Given the description of an element on the screen output the (x, y) to click on. 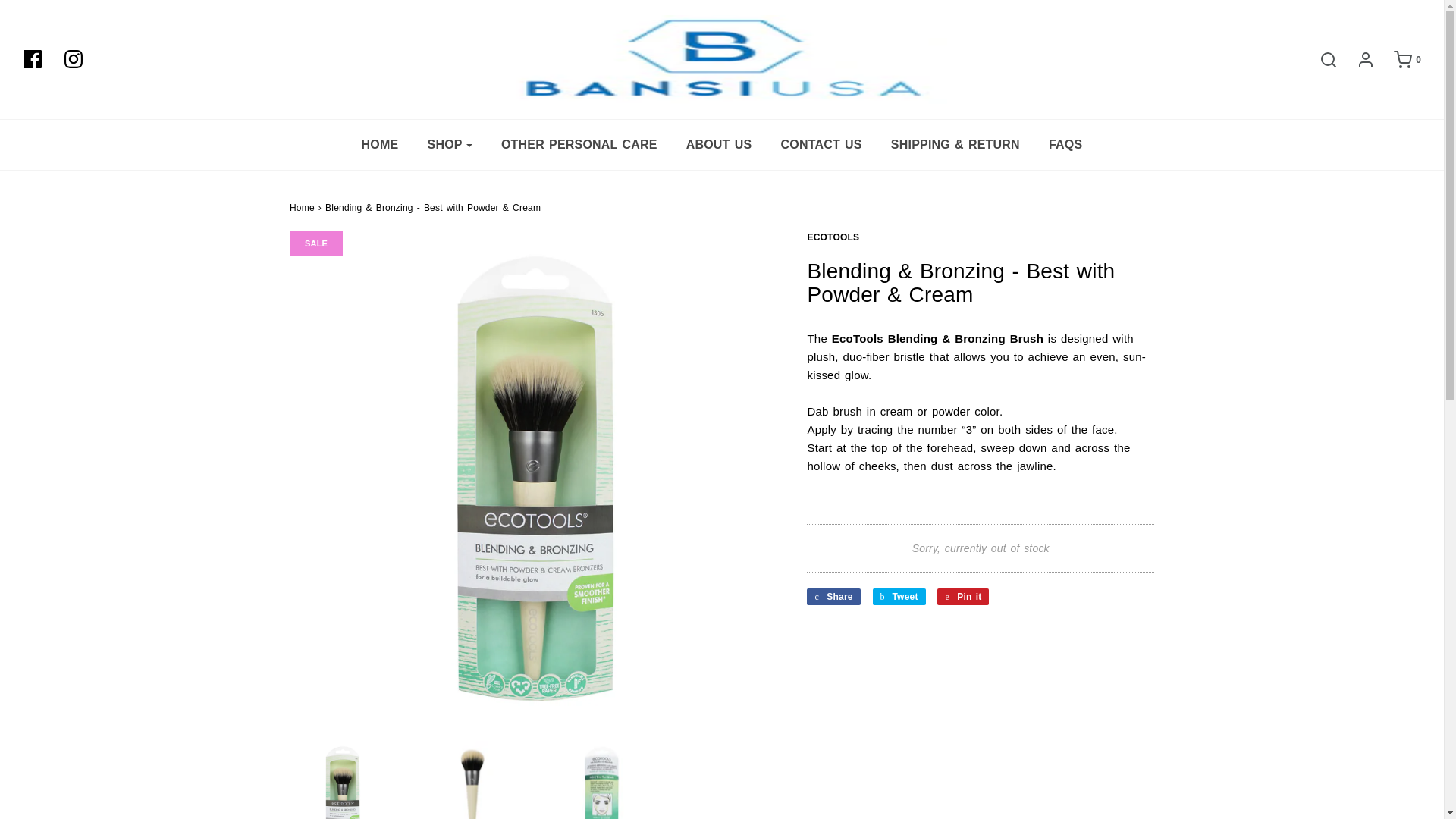
Log in (1357, 58)
Facebook icon (32, 58)
Back to the frontpage (301, 207)
Cart (1399, 58)
Search (1321, 58)
Instagram icon (73, 58)
